Given the description of an element on the screen output the (x, y) to click on. 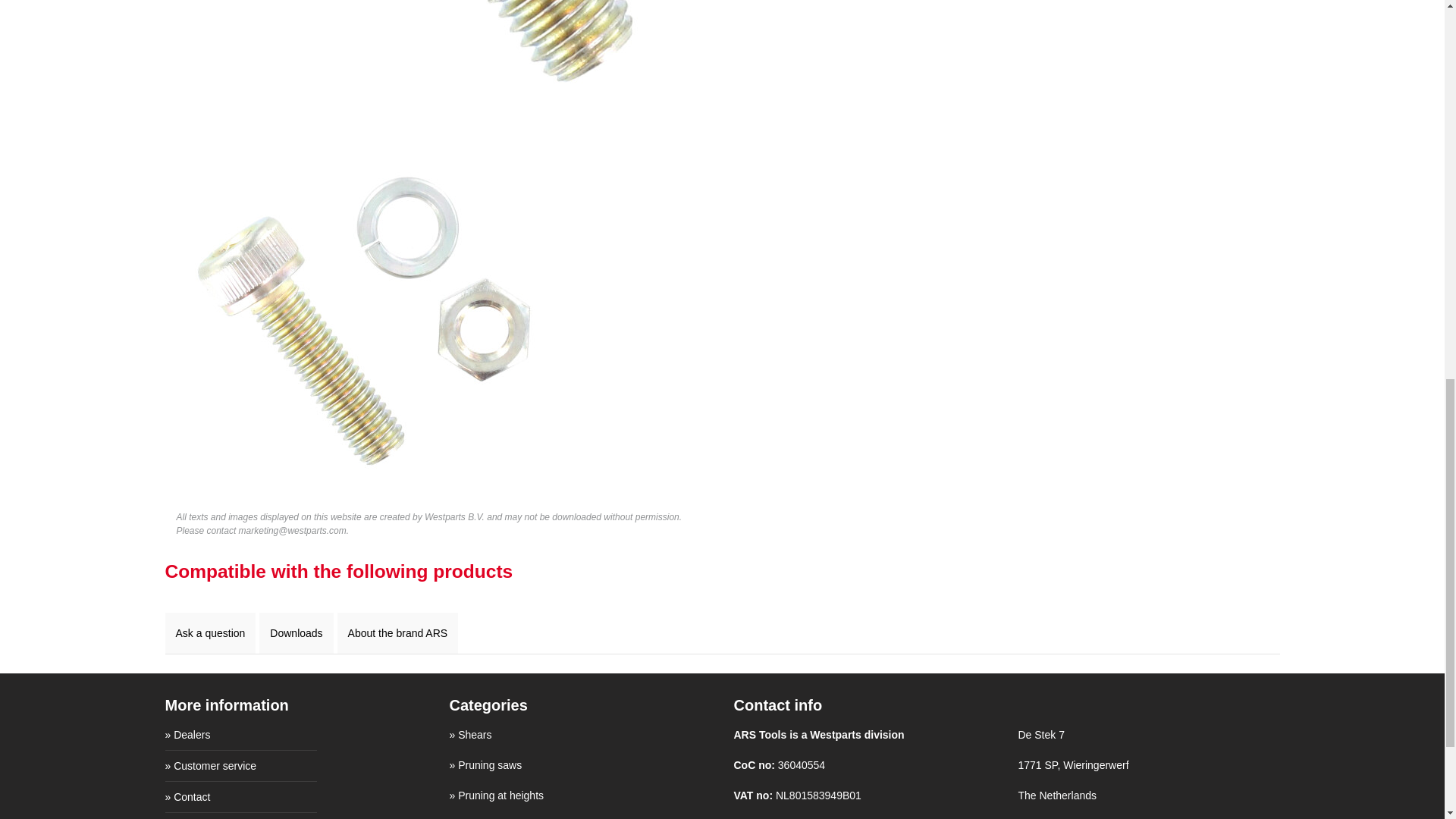
ARS ARSSP207 (365, 317)
